Given the description of an element on the screen output the (x, y) to click on. 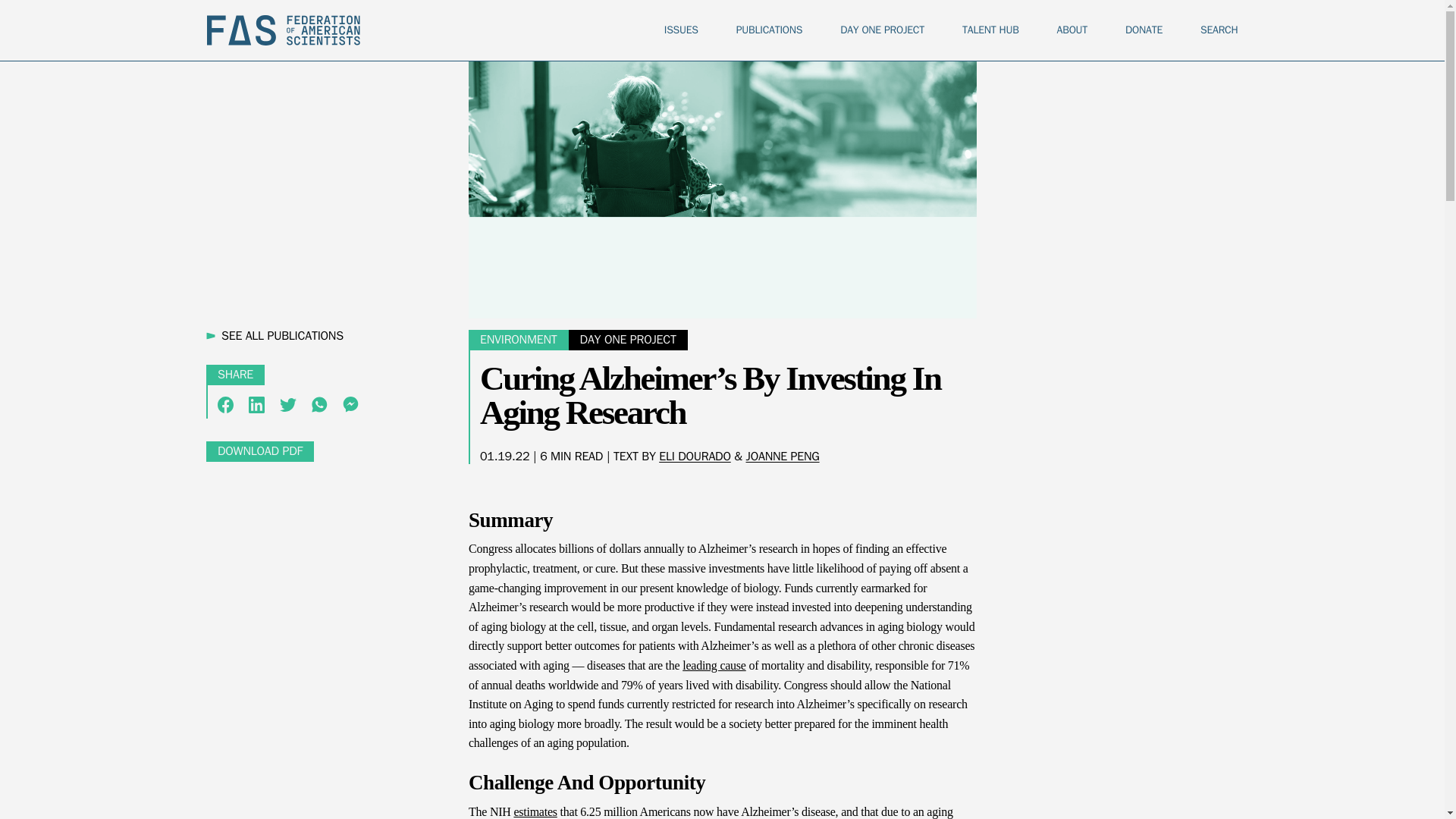
DONATE (1143, 29)
ISSUES (680, 29)
TALENT HUB (990, 29)
SEARCH (1218, 29)
PUBLICATIONS (769, 29)
DAY ONE PROJECT (882, 29)
ABOUT (1072, 29)
Federation of American Scientists (282, 30)
